Given the description of an element on the screen output the (x, y) to click on. 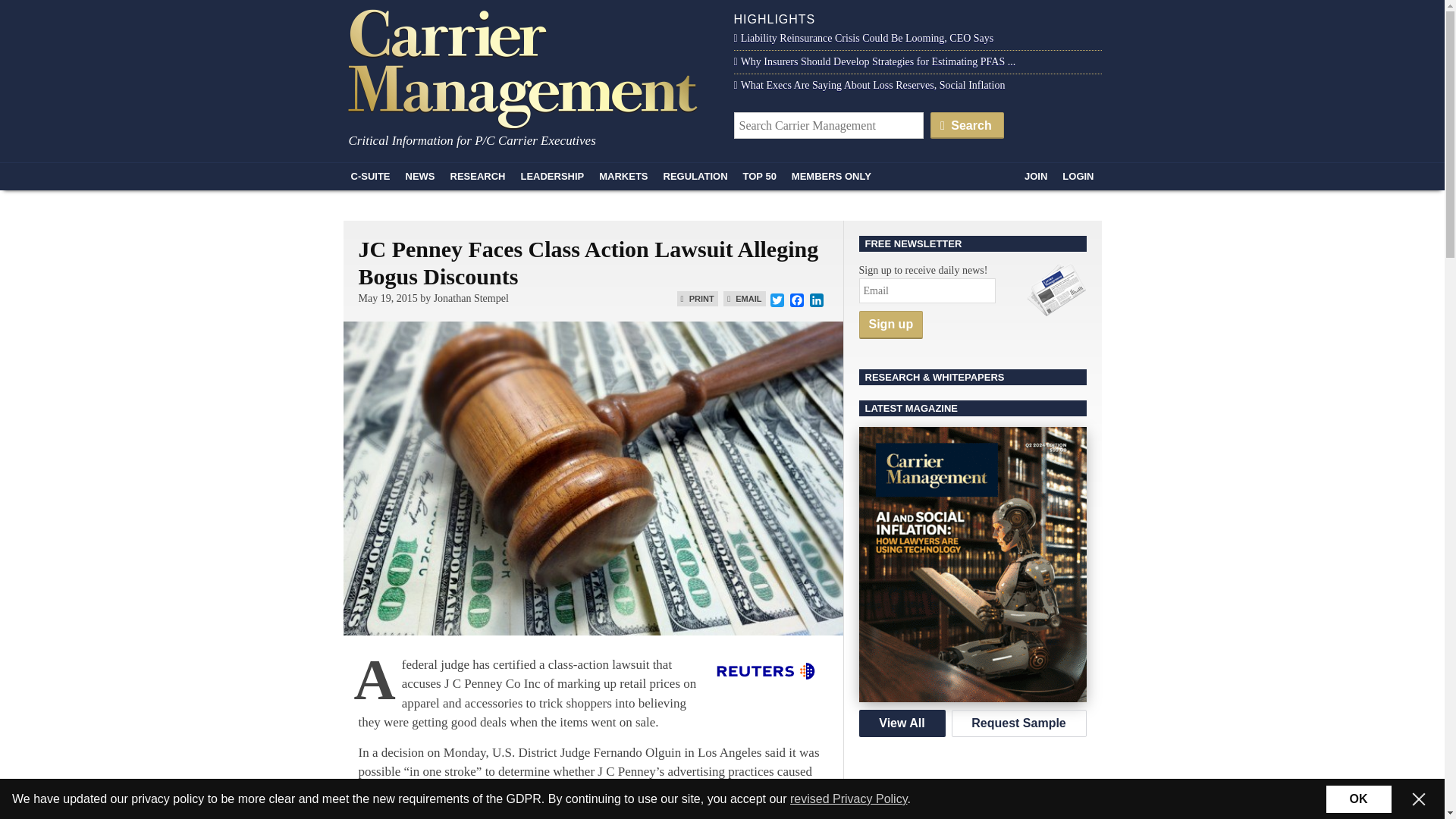
LOGIN (1077, 176)
REGULATION (695, 176)
MARKETS (623, 176)
Search (967, 125)
JOIN (1035, 176)
C-SUITE (369, 176)
NEWS (419, 176)
What Execs Are Saying About Loss Reserves, Social Inflation (869, 84)
RESEARCH (477, 176)
TOP 50 (759, 176)
MEMBERS ONLY (831, 176)
LEADERSHIP (551, 176)
Liability Reinsurance Crisis Could Be Looming, CEO Says (863, 38)
Carrier Management (527, 67)
